Given the description of an element on the screen output the (x, y) to click on. 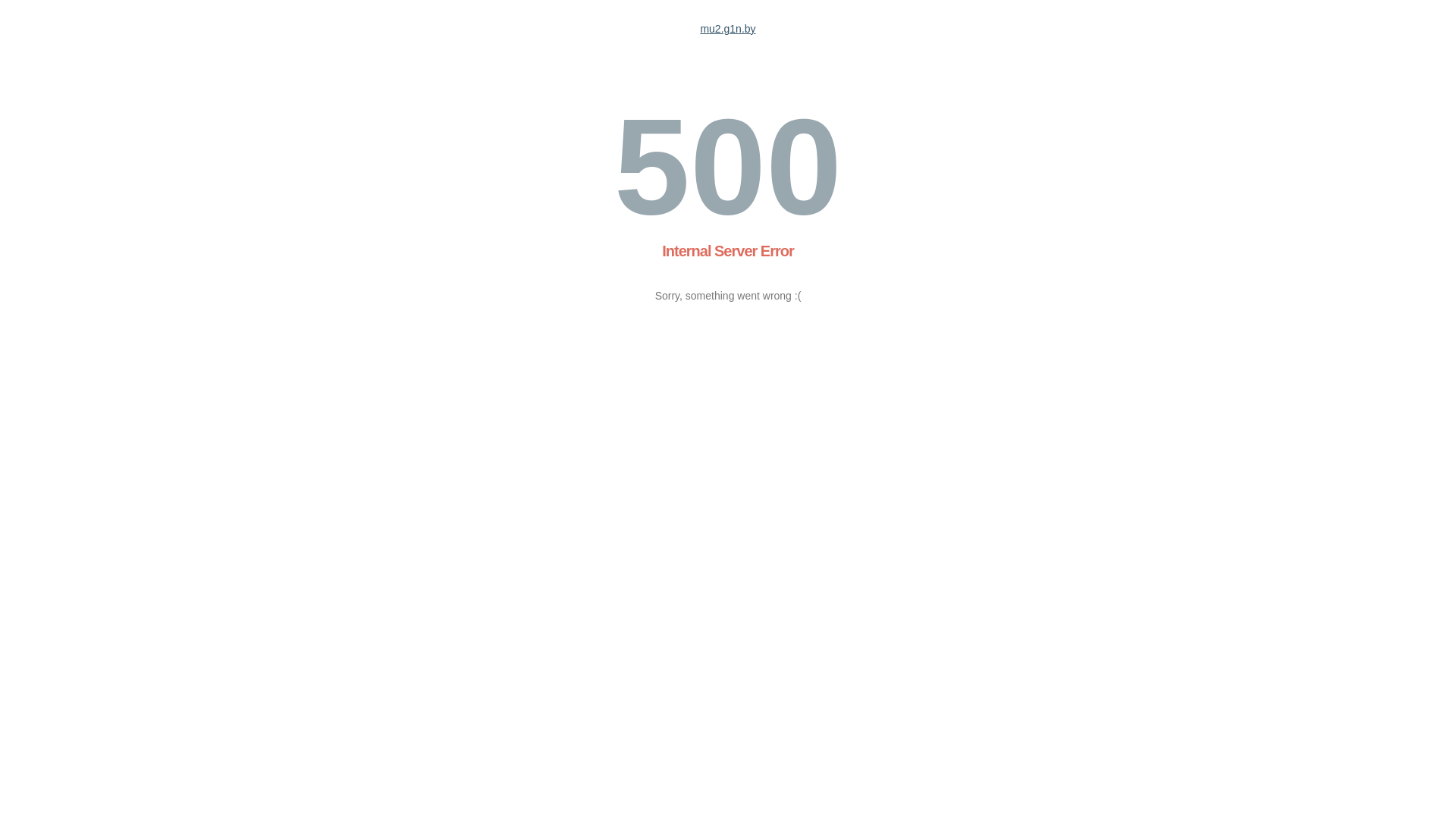
mu2.g1n.by Element type: text (727, 28)
